Given the description of an element on the screen output the (x, y) to click on. 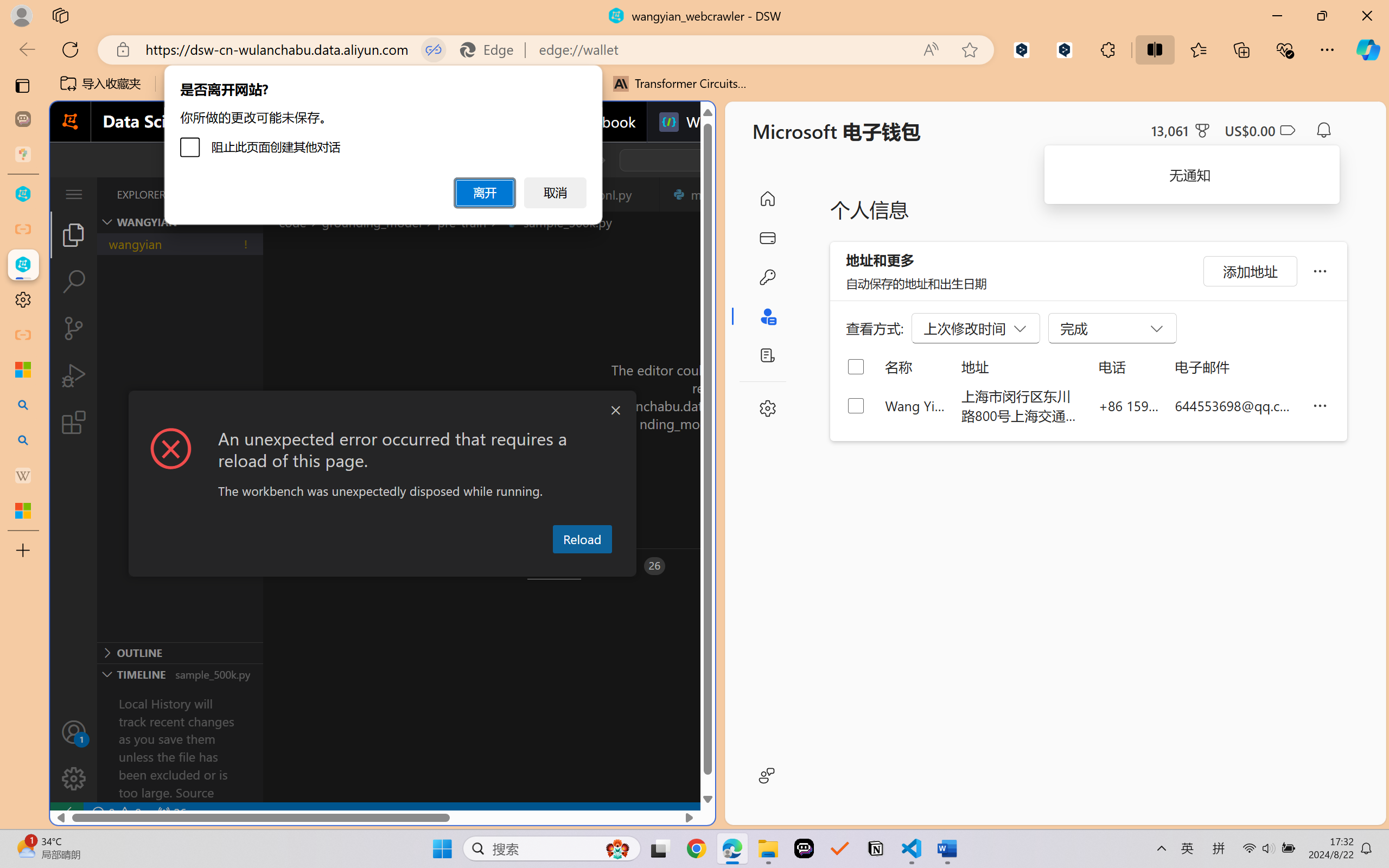
Class: actions-container (381, 410)
